Given the description of an element on the screen output the (x, y) to click on. 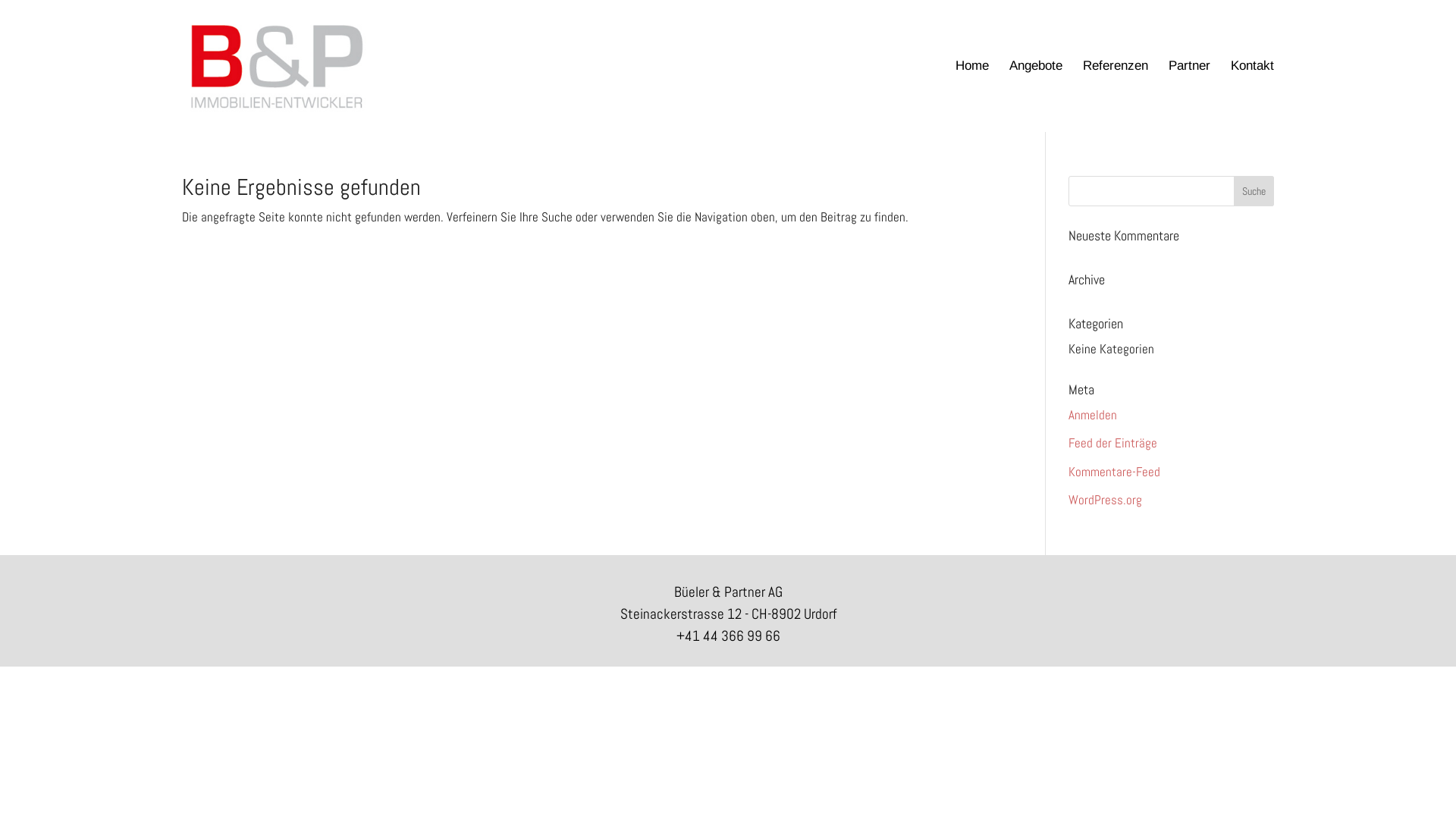
Angebote Element type: text (1035, 95)
Home Element type: text (971, 95)
WordPress.org Element type: text (1105, 499)
Kommentare-Feed Element type: text (1114, 471)
Anmelden Element type: text (1092, 414)
Partner Element type: text (1189, 95)
Kontakt Element type: text (1252, 95)
Referenzen Element type: text (1115, 95)
Suche Element type: text (1253, 190)
